Given the description of an element on the screen output the (x, y) to click on. 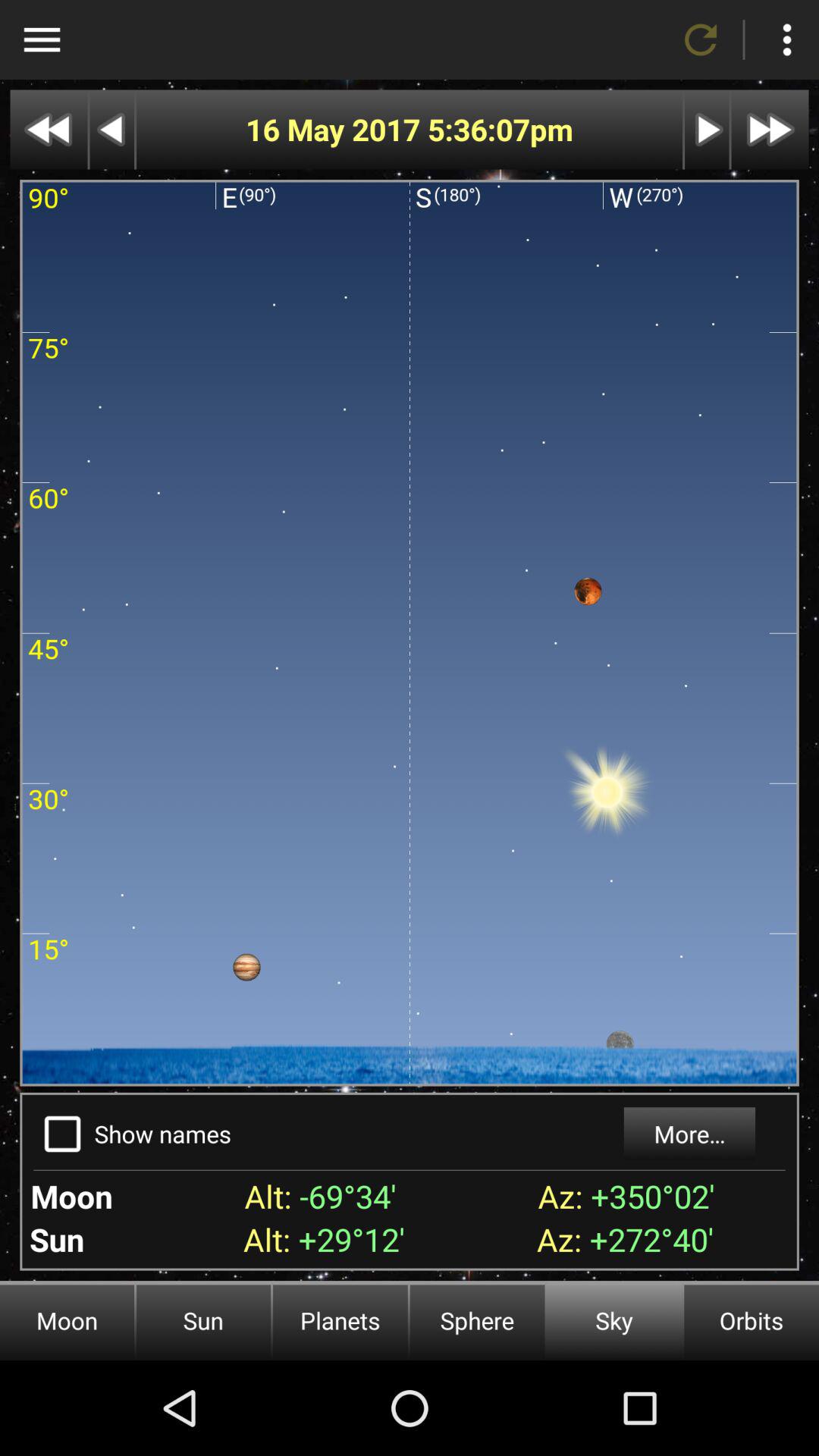
refresh page (700, 39)
